Given the description of an element on the screen output the (x, y) to click on. 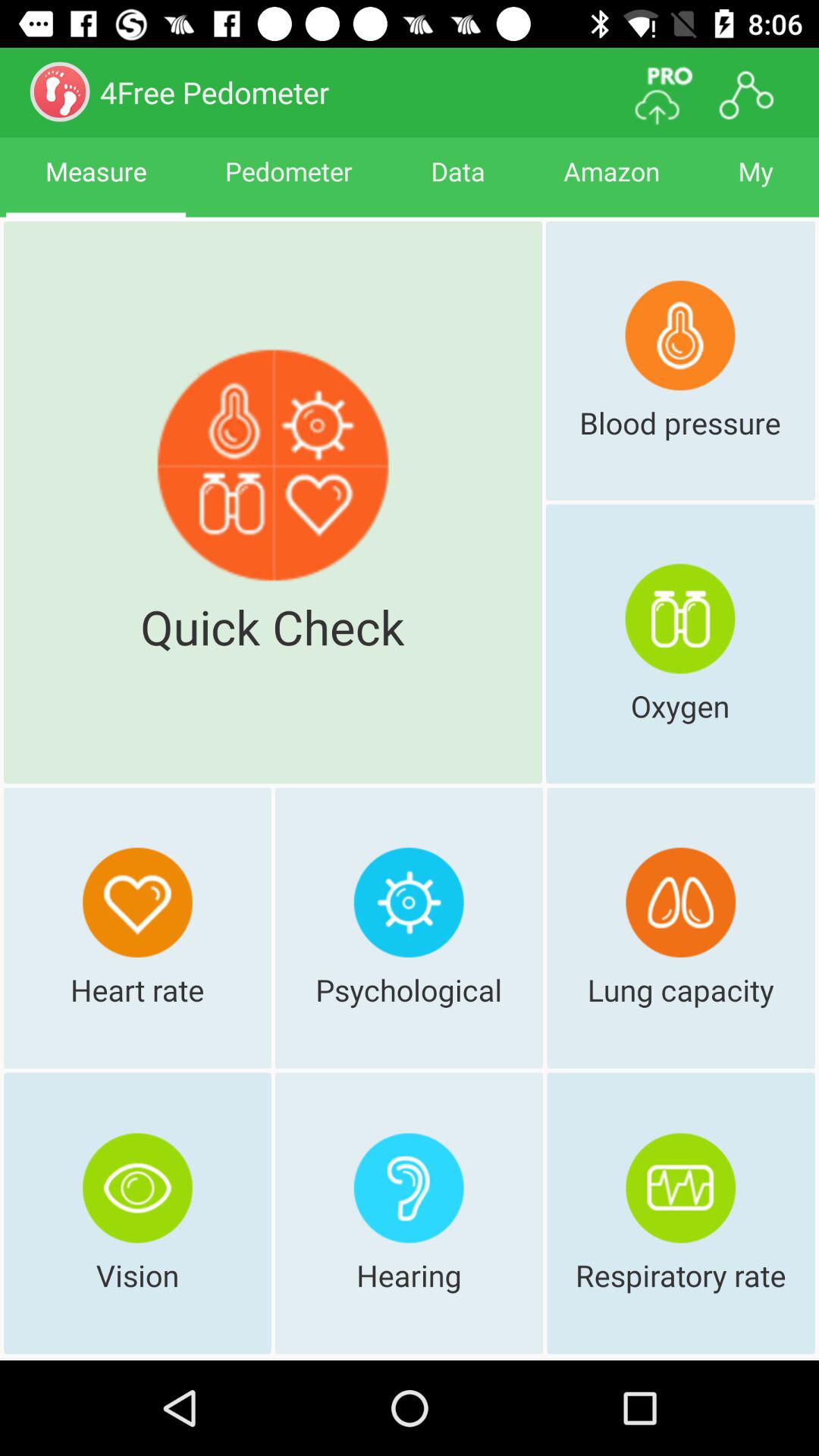
press icon to the left of amazon (457, 185)
